Given the description of an element on the screen output the (x, y) to click on. 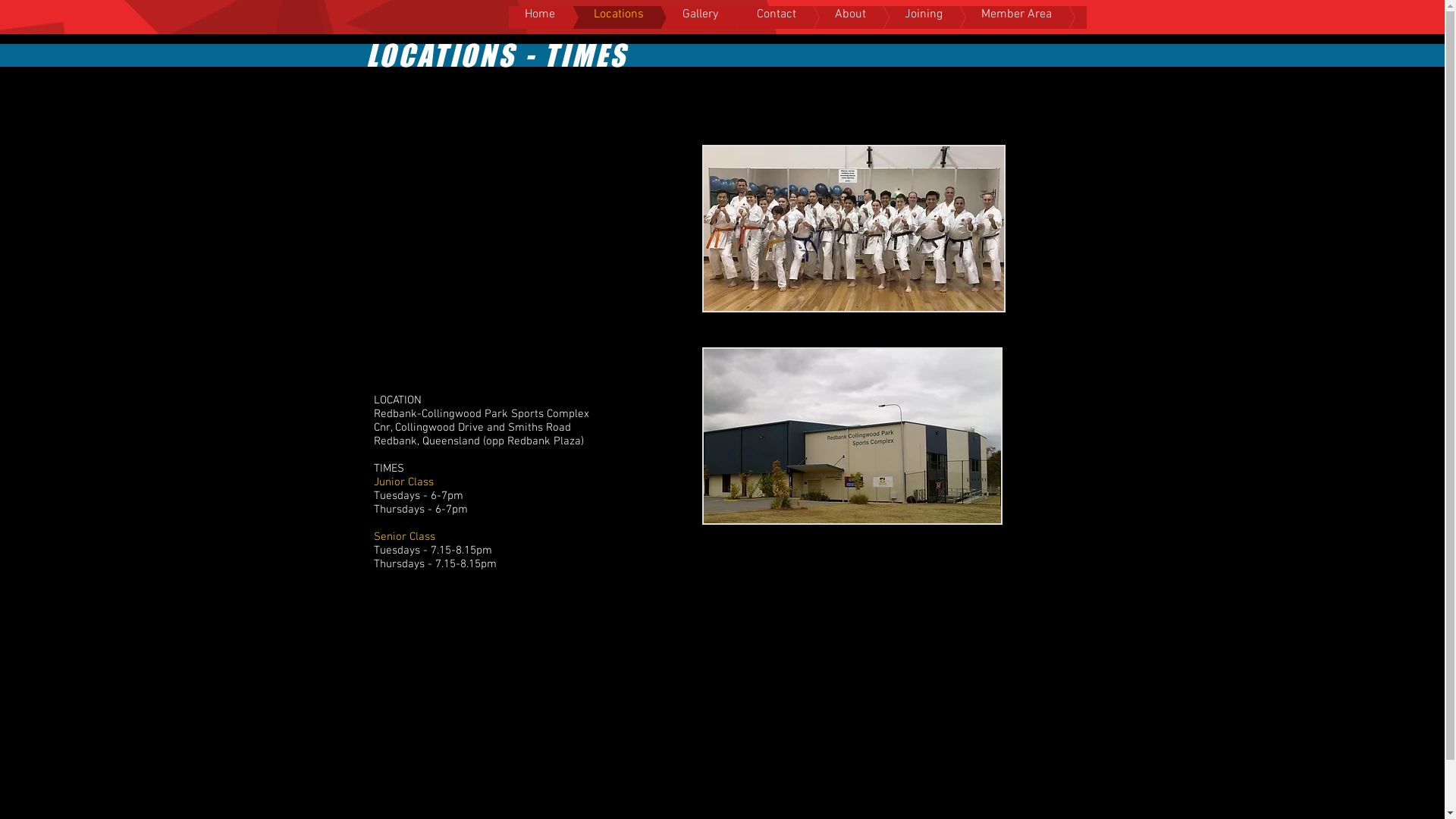
Home Element type: text (516, 17)
About Element type: text (826, 17)
Locations Element type: text (594, 17)
Ipswich karate redbank collingwood park sports complex dojo Element type: hover (852, 435)
Joining Element type: text (899, 17)
Contact Element type: text (753, 17)
Gallery Element type: text (677, 17)
Ipswich karate redbank collingwood park sports complex dojo Element type: hover (853, 228)
Member Area Element type: text (993, 17)
